Given the description of an element on the screen output the (x, y) to click on. 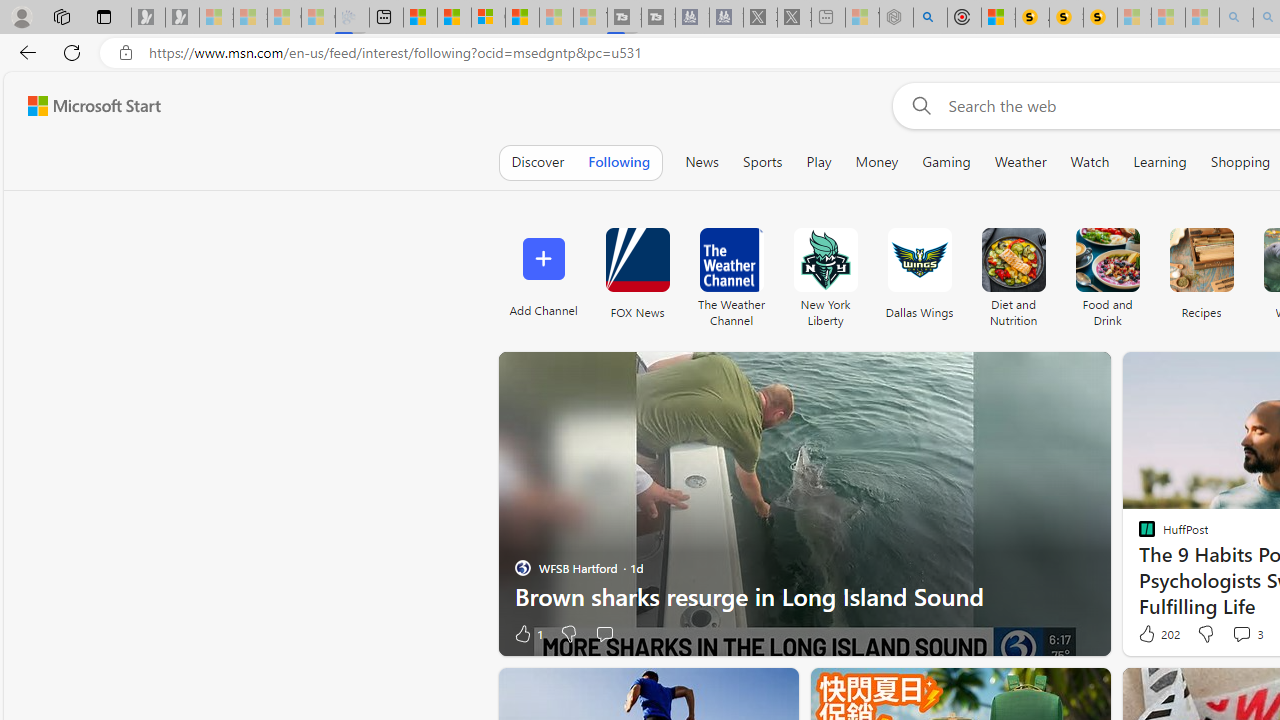
Overview (488, 17)
New York Liberty (825, 260)
Food and Drink (1107, 260)
Dallas Wings (919, 260)
